Given the description of an element on the screen output the (x, y) to click on. 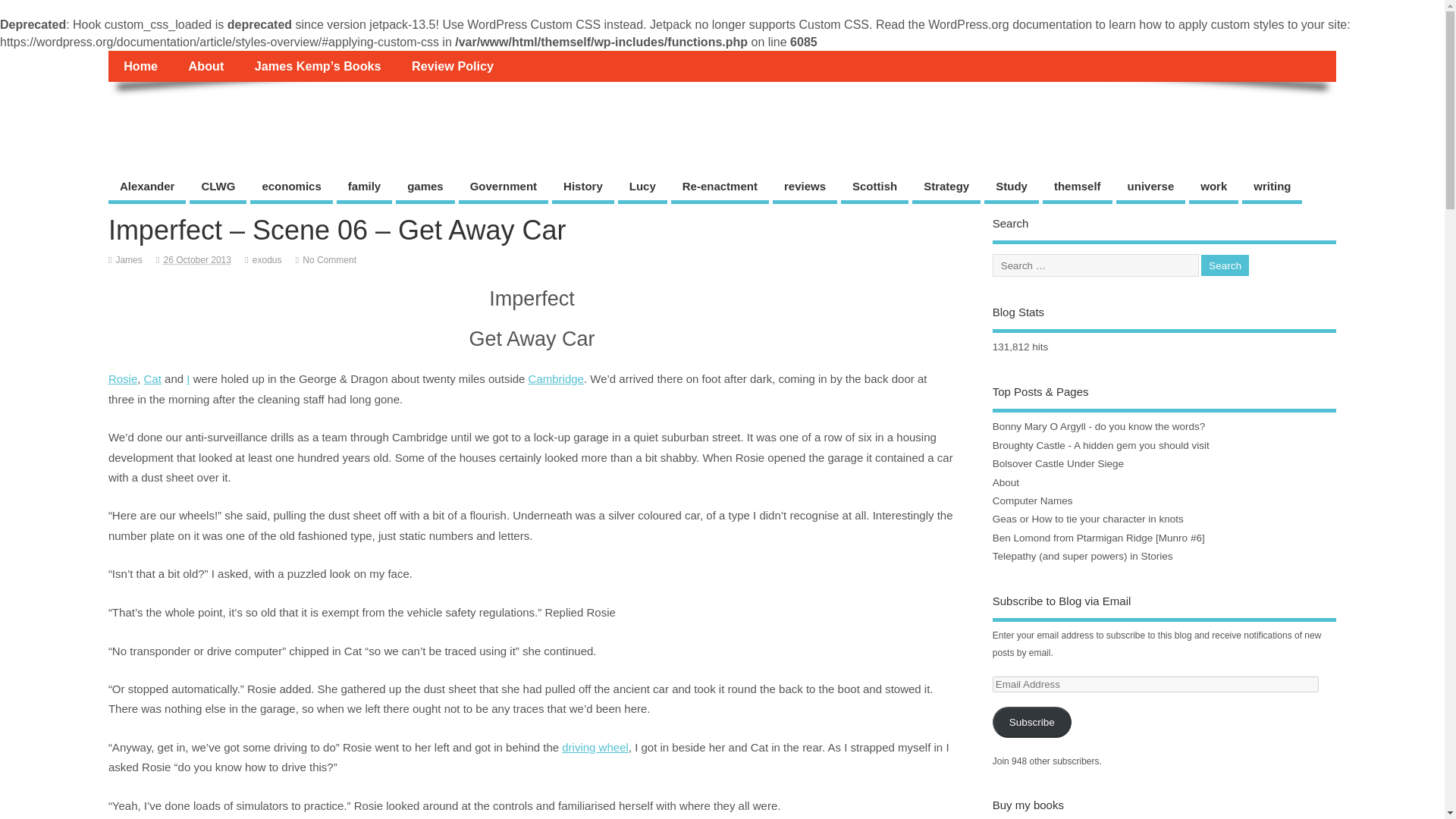
family (363, 187)
games (425, 187)
Lucy (641, 187)
themself (1077, 187)
Government (503, 187)
Review Policy (452, 65)
Scottish (874, 187)
Themself (161, 115)
History (582, 187)
reviews (805, 187)
Cambridge (555, 378)
economics (290, 187)
Re-enactment (719, 187)
universe (1151, 187)
Alexander (146, 187)
